Given the description of an element on the screen output the (x, y) to click on. 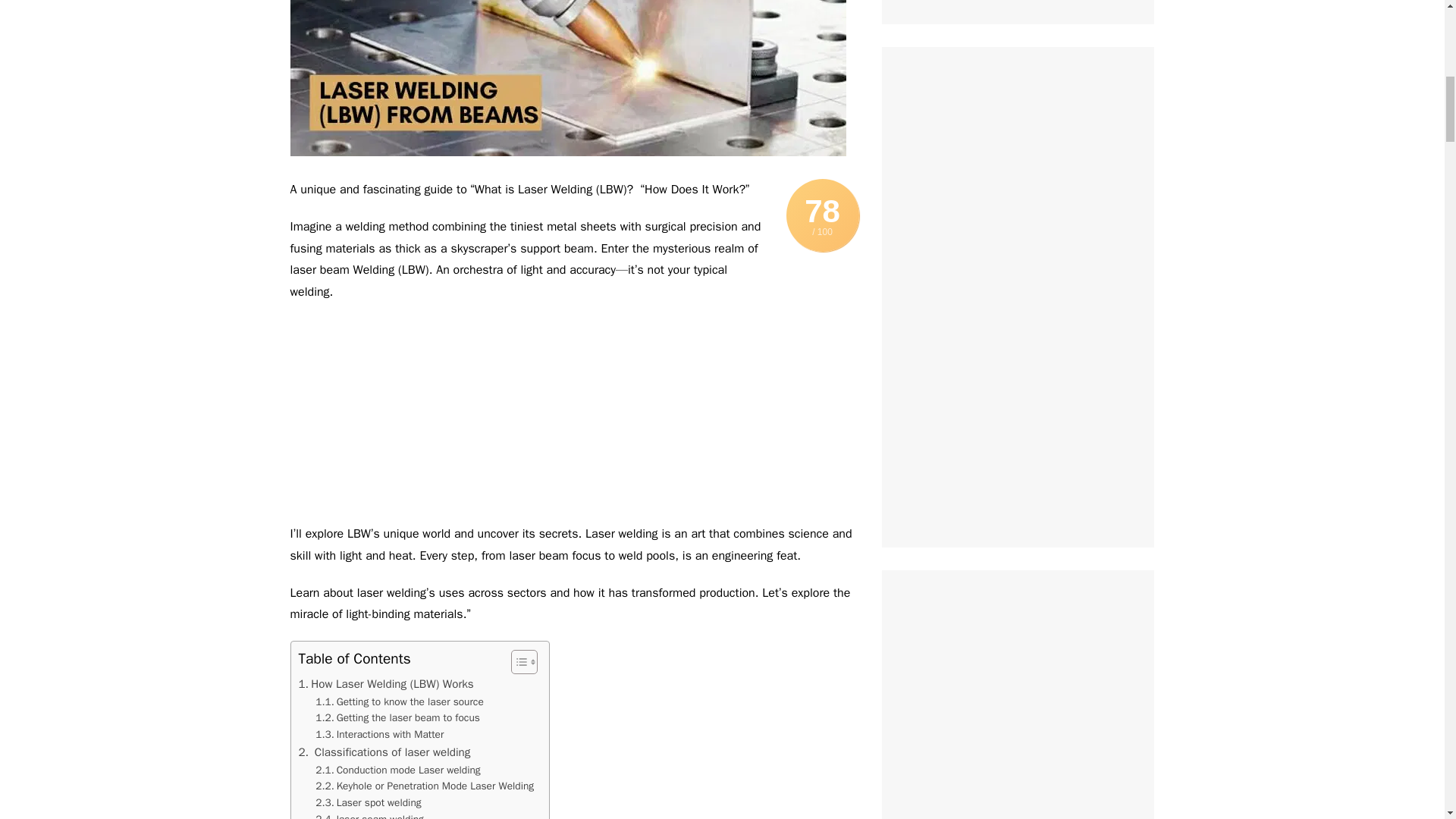
Getting the laser beam to focus (397, 718)
Getting to know the laser source (399, 701)
Laser spot welding (367, 802)
laser seam welding  (370, 815)
Conduction mode Laser welding (397, 769)
Keyhole or Penetration Mode Laser Welding (424, 786)
Laser spot welding (367, 802)
Interactions with Matter (379, 734)
 Classifications of laser welding (384, 751)
